Given the description of an element on the screen output the (x, y) to click on. 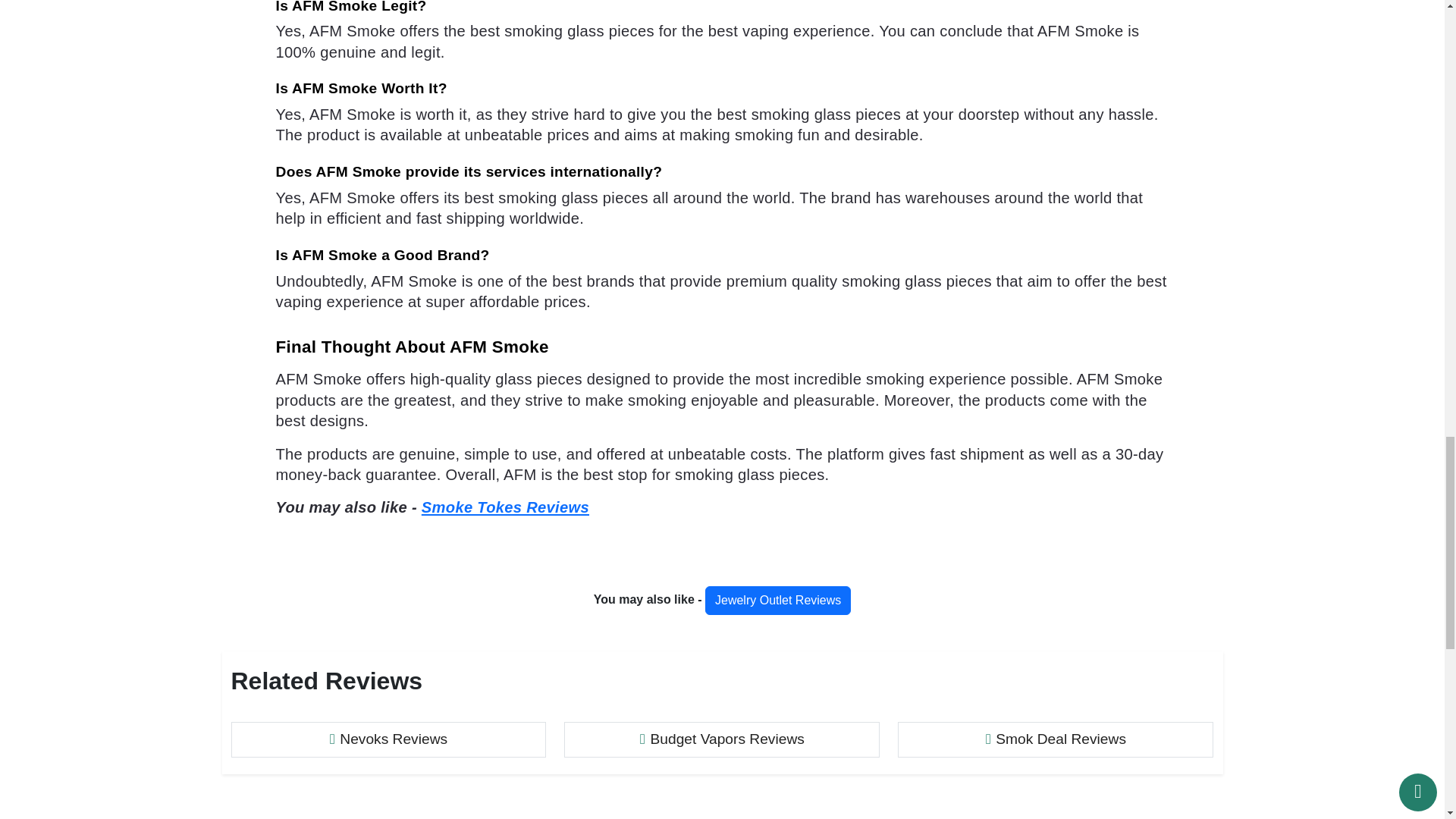
Budget Vapors Reviews (721, 739)
Smoke Tokes Reviews (505, 506)
Jewelry Outlet Reviews (777, 600)
Nevoks Reviews (388, 739)
Smok Deal Reviews (1055, 739)
